Given the description of an element on the screen output the (x, y) to click on. 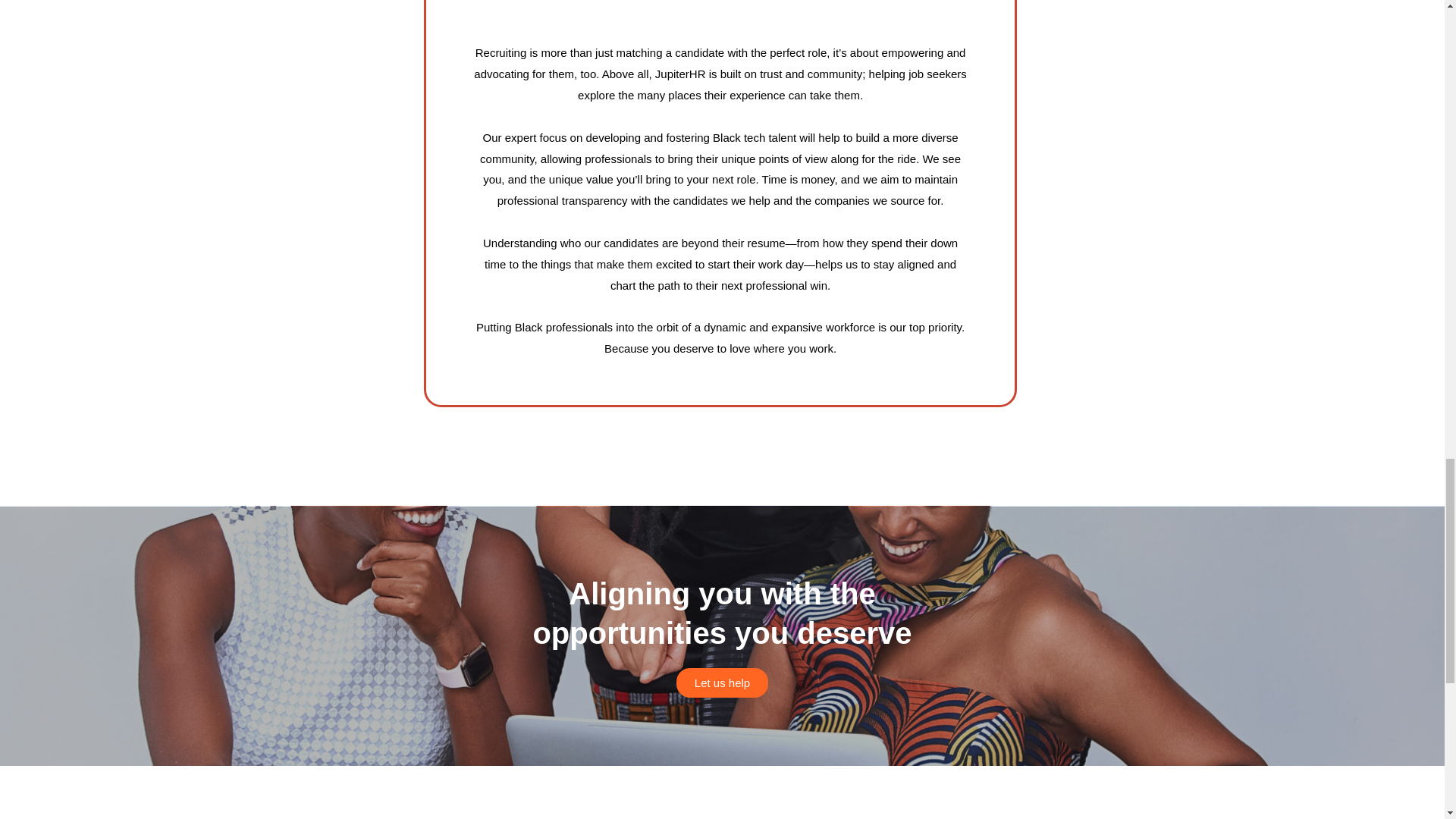
Let us help (722, 682)
